Given the description of an element on the screen output the (x, y) to click on. 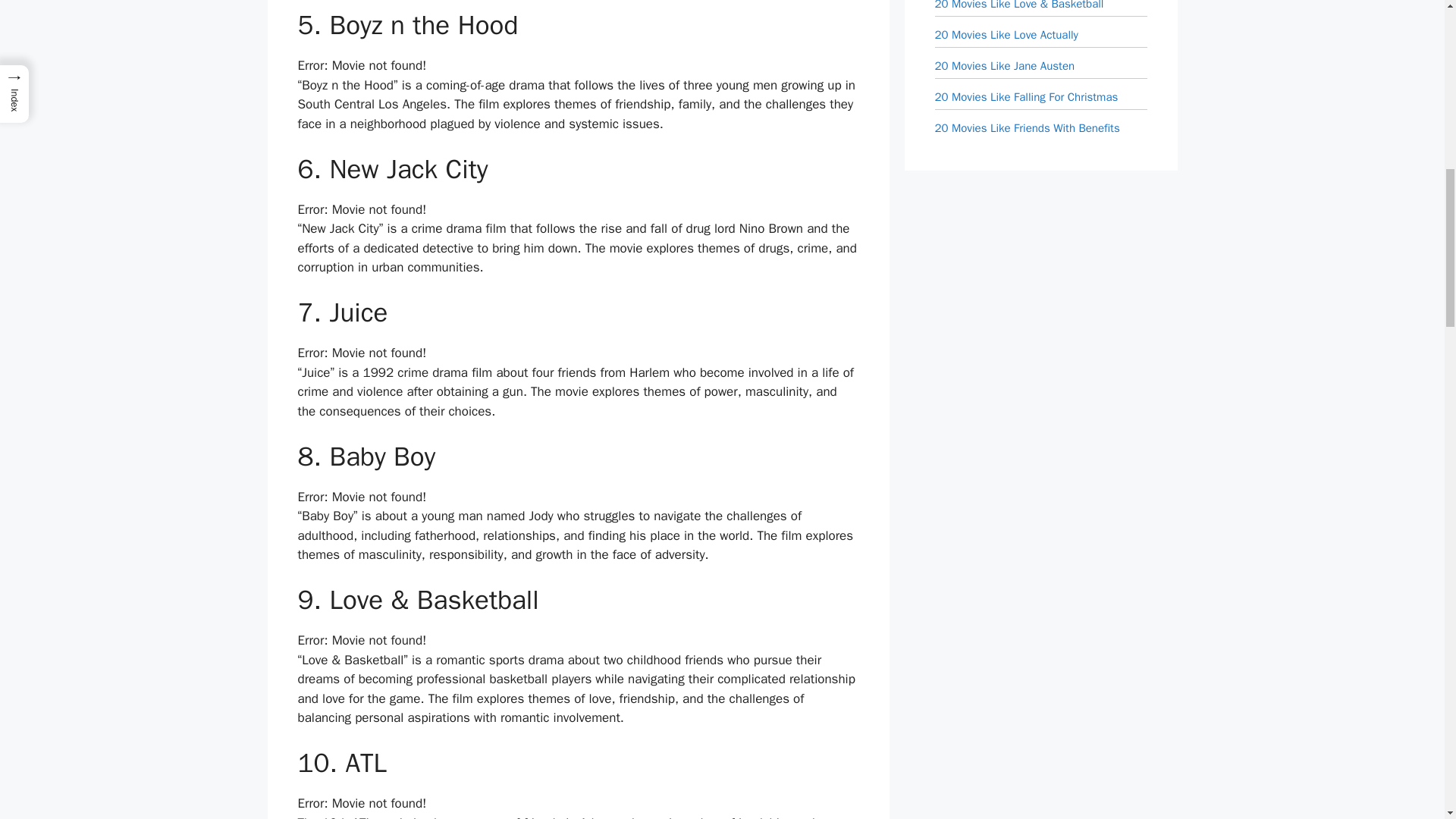
20 Movies Like Friends With Benefits (1026, 128)
20 Movies Like Jane Austen (1004, 65)
20 Movies Like Falling For Christmas (1026, 97)
20 Movies Like Love Actually (1005, 34)
